Given the description of an element on the screen output the (x, y) to click on. 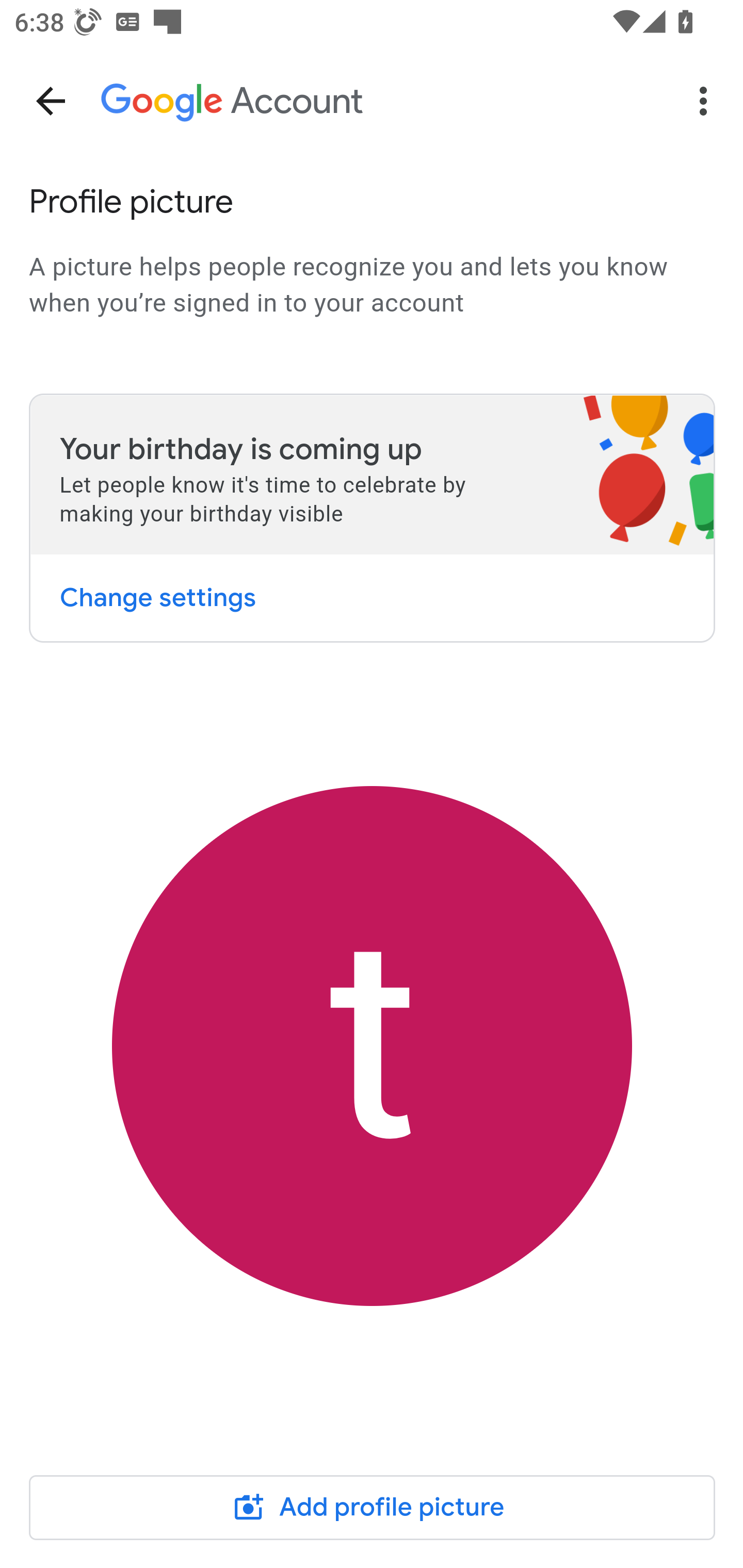
Navigate up (50, 101)
More options (706, 101)
Change settings (157, 596)
Add profile picture (372, 1506)
